Given the description of an element on the screen output the (x, y) to click on. 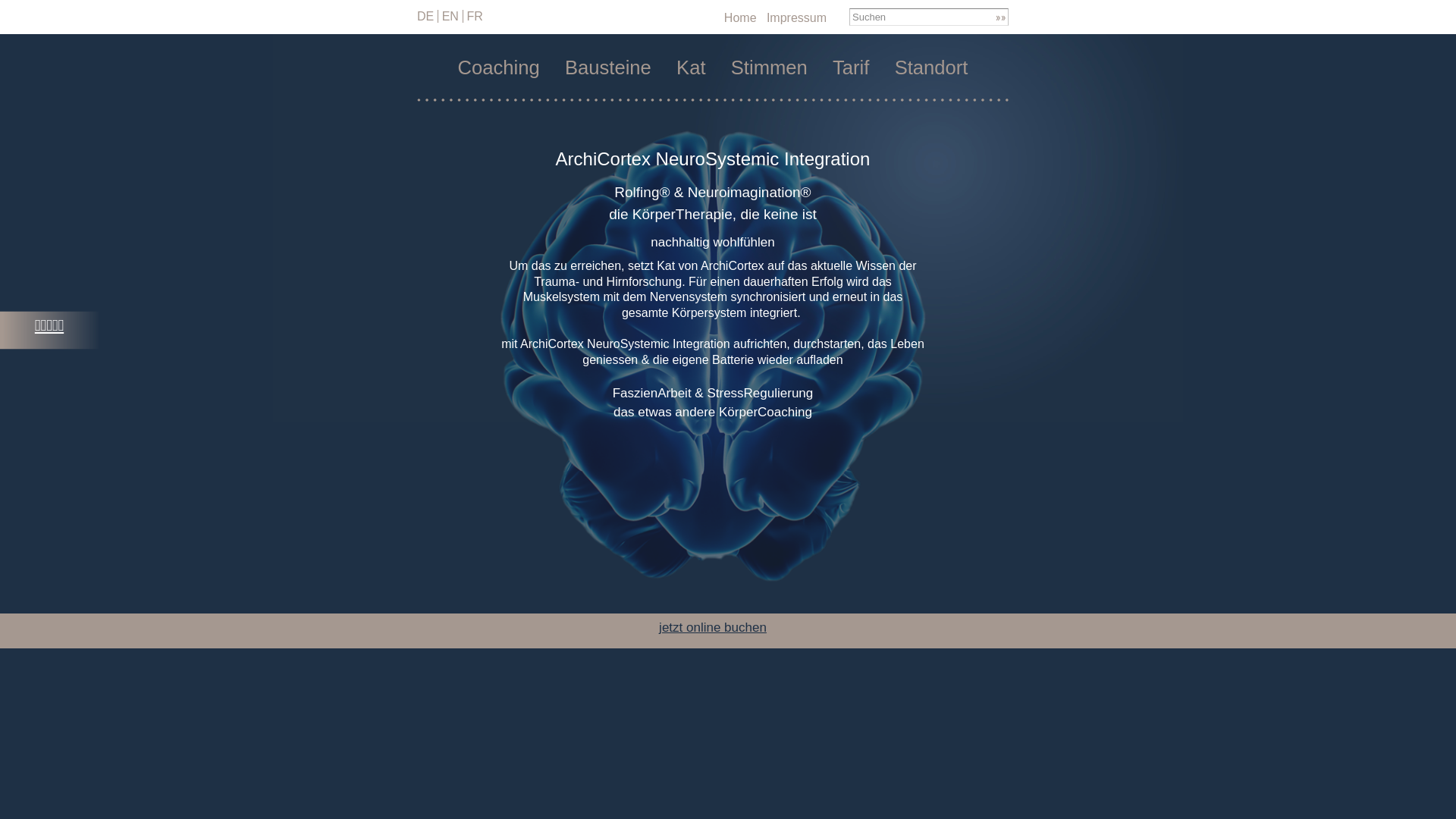
FR Element type: text (474, 15)
Coaching Element type: text (498, 68)
DE Element type: text (425, 15)
Tarif Element type: text (850, 68)
EN Element type: text (450, 15)
Bausteine Element type: text (607, 68)
Impressum Element type: text (796, 17)
Skip to main content Element type: text (691, 1)
Home Element type: text (740, 17)
Kat Element type: text (690, 68)
Stimmen Element type: text (769, 68)
Standort Element type: text (931, 68)
jetzt online buchen Element type: text (712, 627)
